Given the description of an element on the screen output the (x, y) to click on. 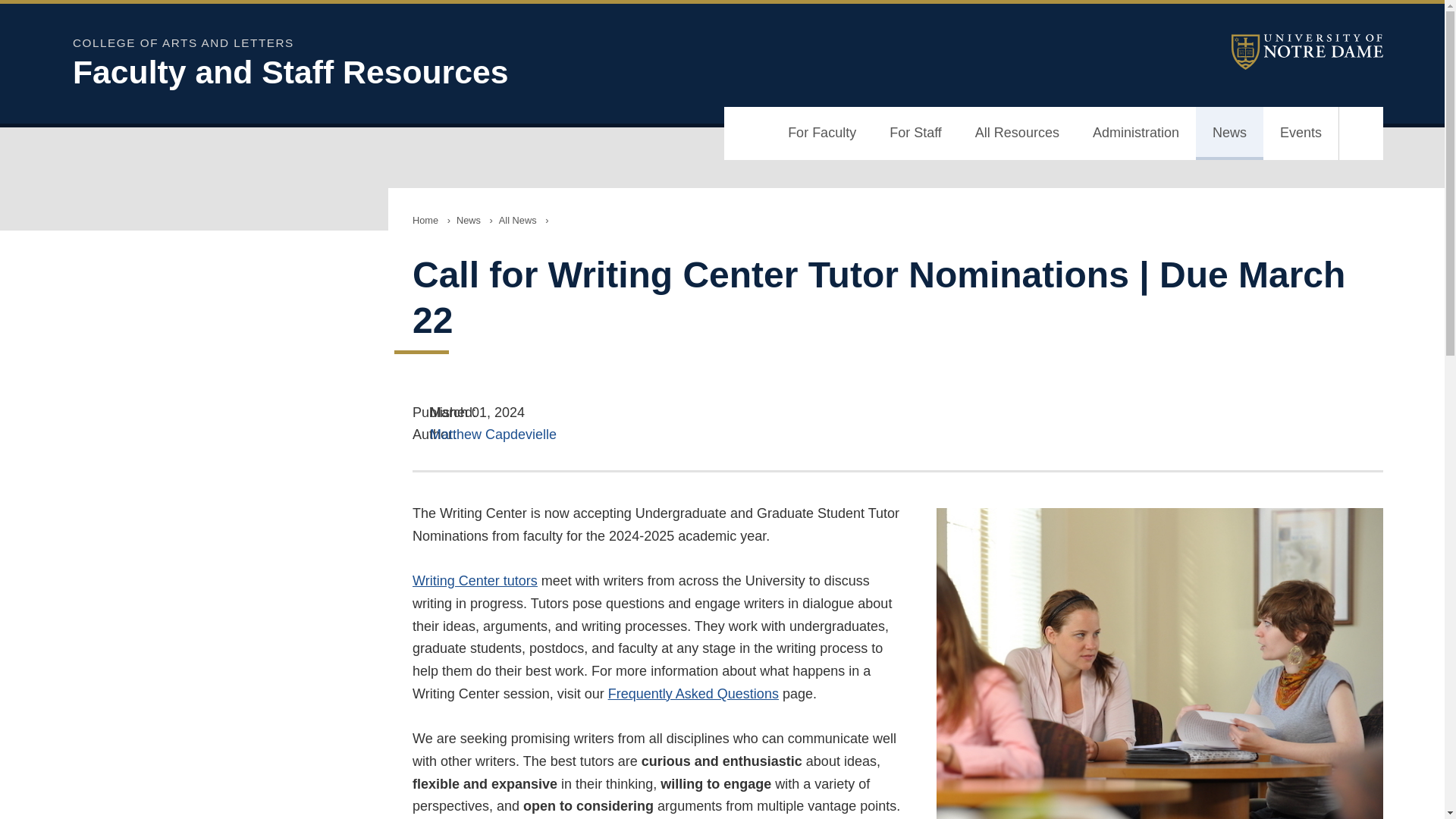
For Faculty (821, 133)
News (1229, 133)
All Resources (1016, 133)
Home (425, 220)
Administration (1135, 133)
Writing Center tutors (474, 580)
News (467, 220)
All News (518, 220)
For Staff (915, 133)
Faculty and Staff Resources (466, 72)
University of Notre Dame (1307, 51)
Matthew Capdevielle (492, 434)
Events (1300, 133)
Frequently Asked Questions (693, 693)
